Given the description of an element on the screen output the (x, y) to click on. 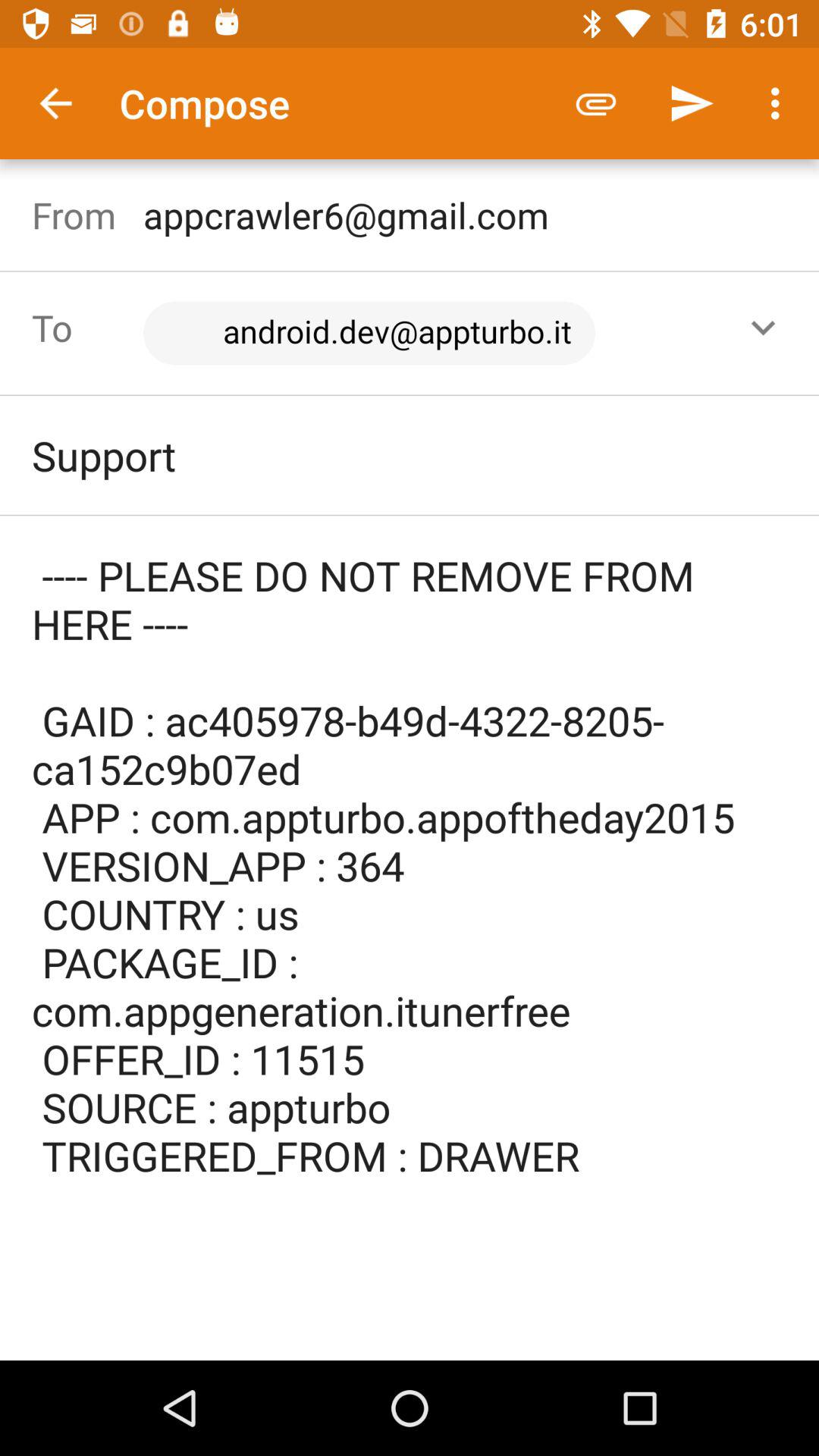
tap the icon next to compose item (595, 103)
